Given the description of an element on the screen output the (x, y) to click on. 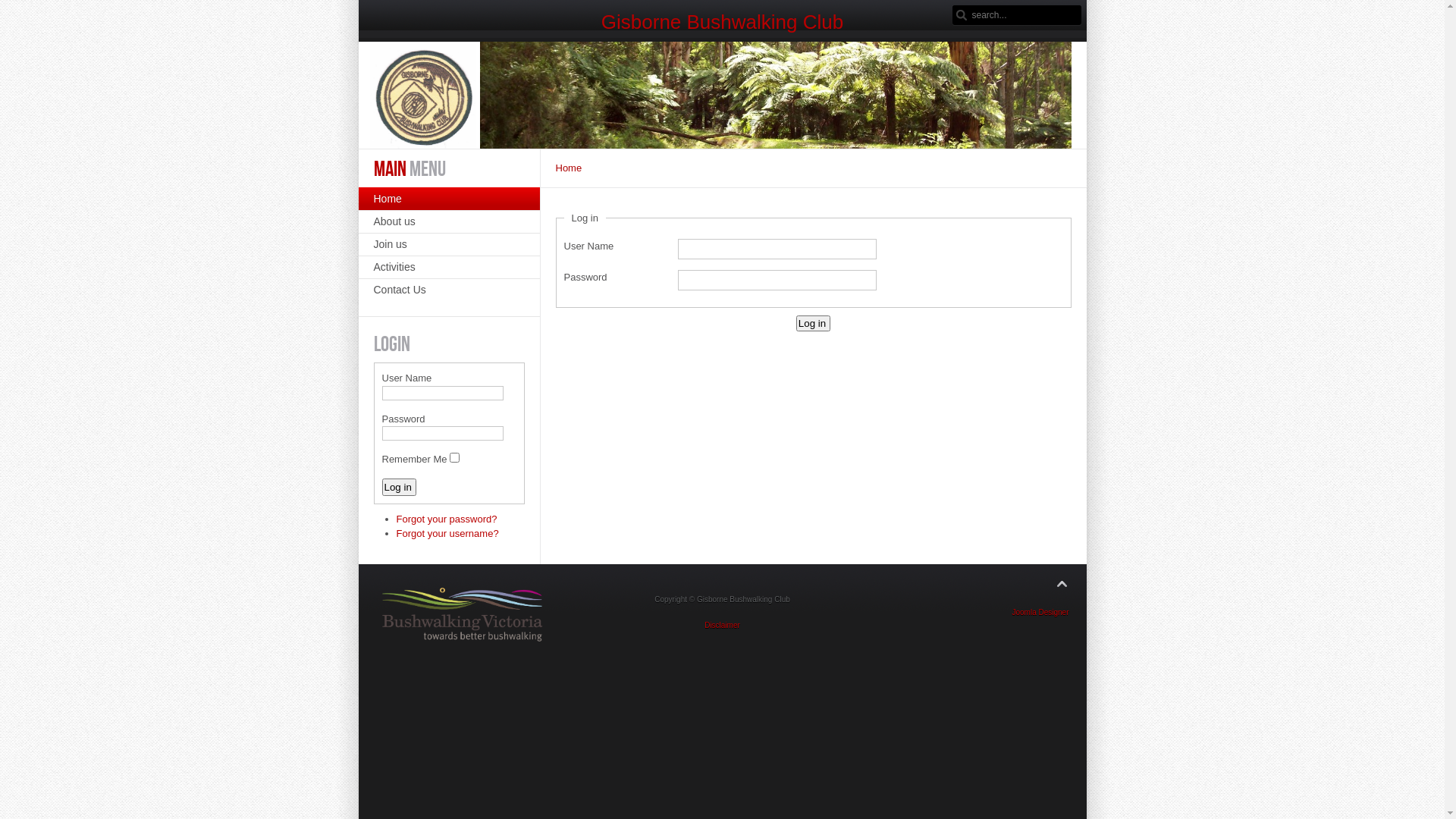
Disclaimer Element type: text (722, 625)
Joomla Designer Element type: text (1039, 612)
Forgot your password? Element type: text (445, 518)
About us Element type: text (448, 221)
Reset Element type: text (8, 9)
Log in Element type: text (813, 323)
Contact Us Element type: text (448, 289)
Search Element type: text (962, 15)
Home Element type: text (448, 198)
Join us Element type: text (448, 243)
Forgot your username? Element type: text (446, 533)
Activities Element type: text (448, 266)
Log in Element type: text (399, 486)
